Given the description of an element on the screen output the (x, y) to click on. 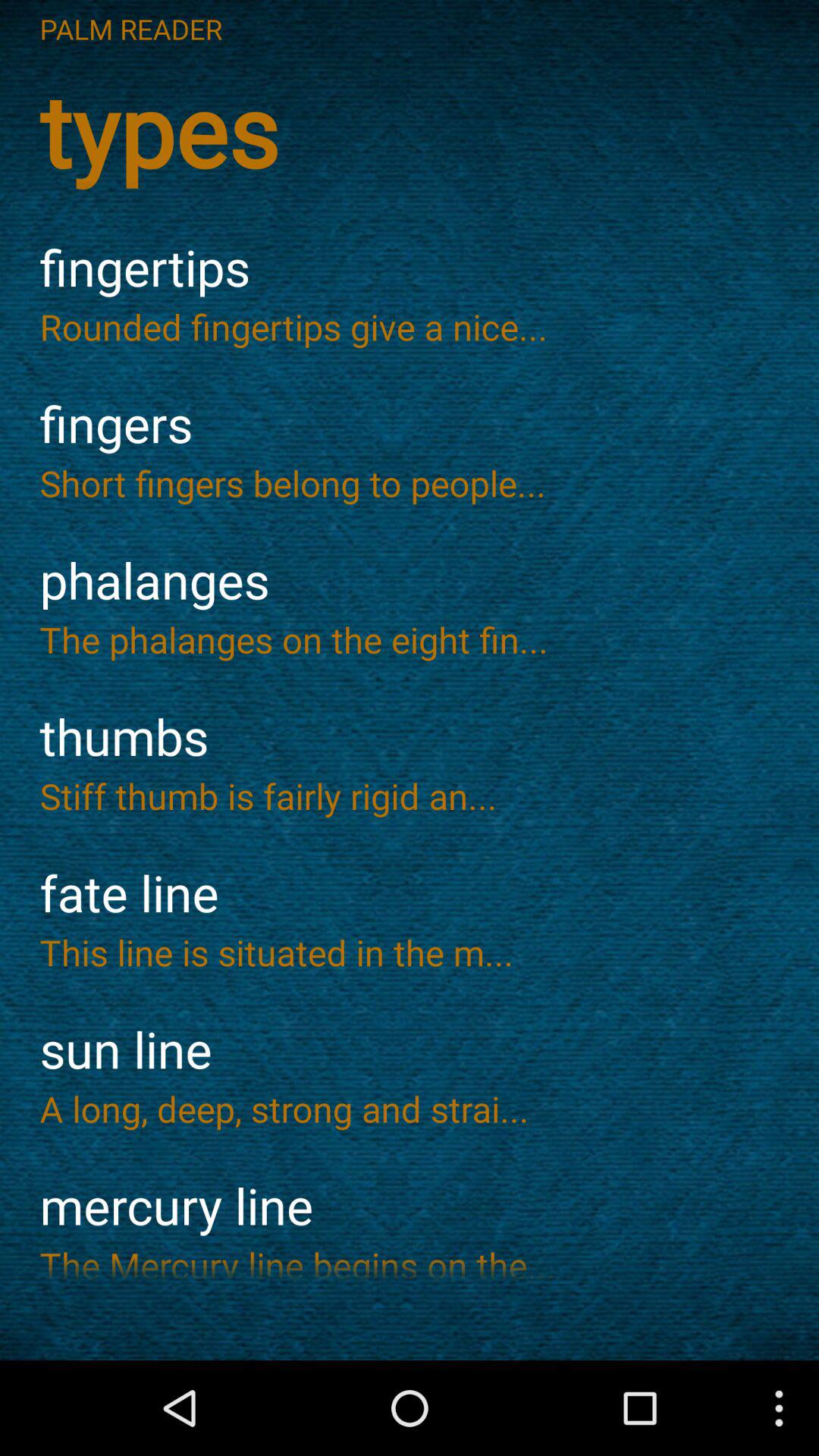
open the app above fate line item (409, 795)
